Given the description of an element on the screen output the (x, y) to click on. 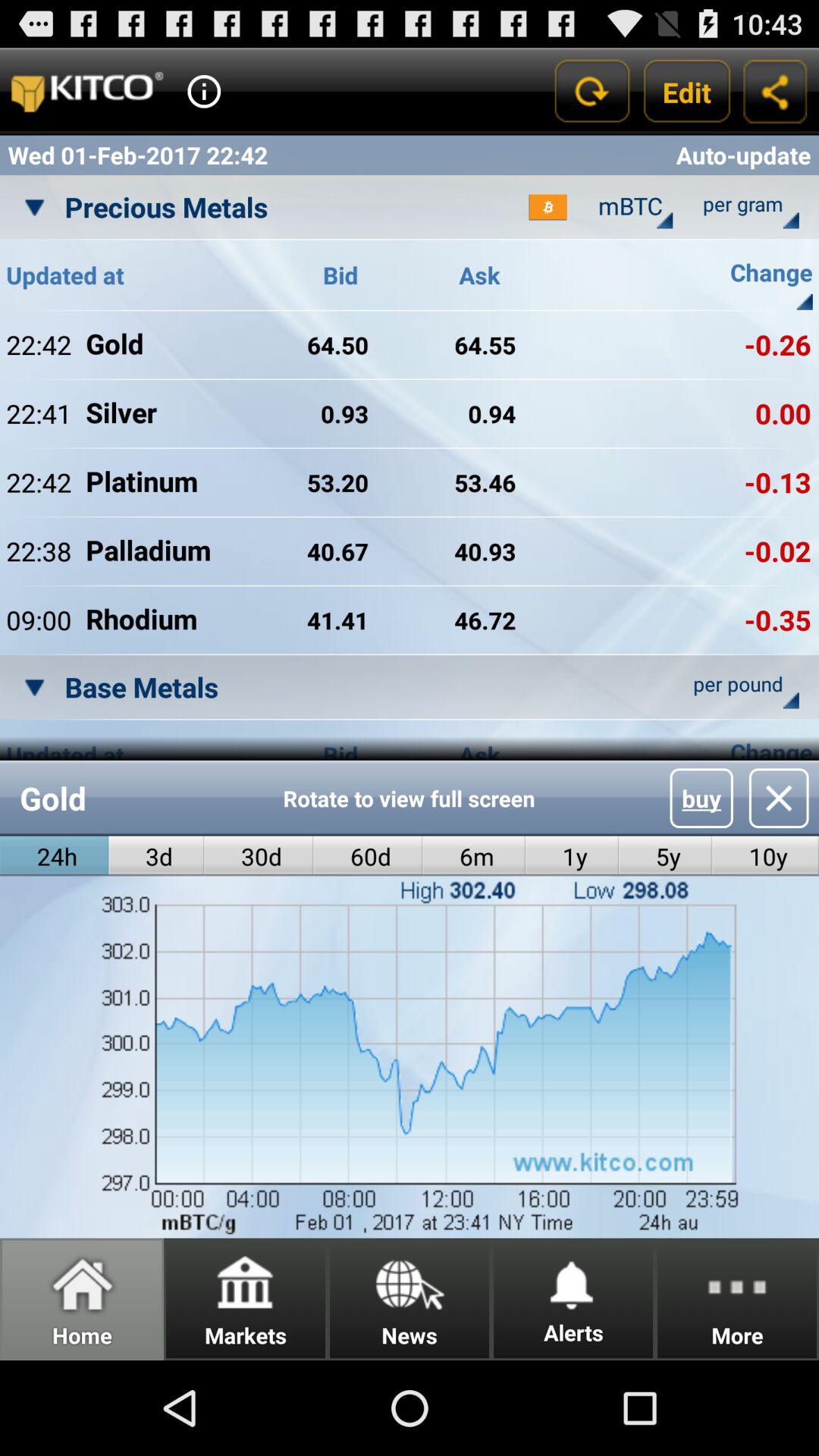
click the radio button next to the 30d item (156, 856)
